Given the description of an element on the screen output the (x, y) to click on. 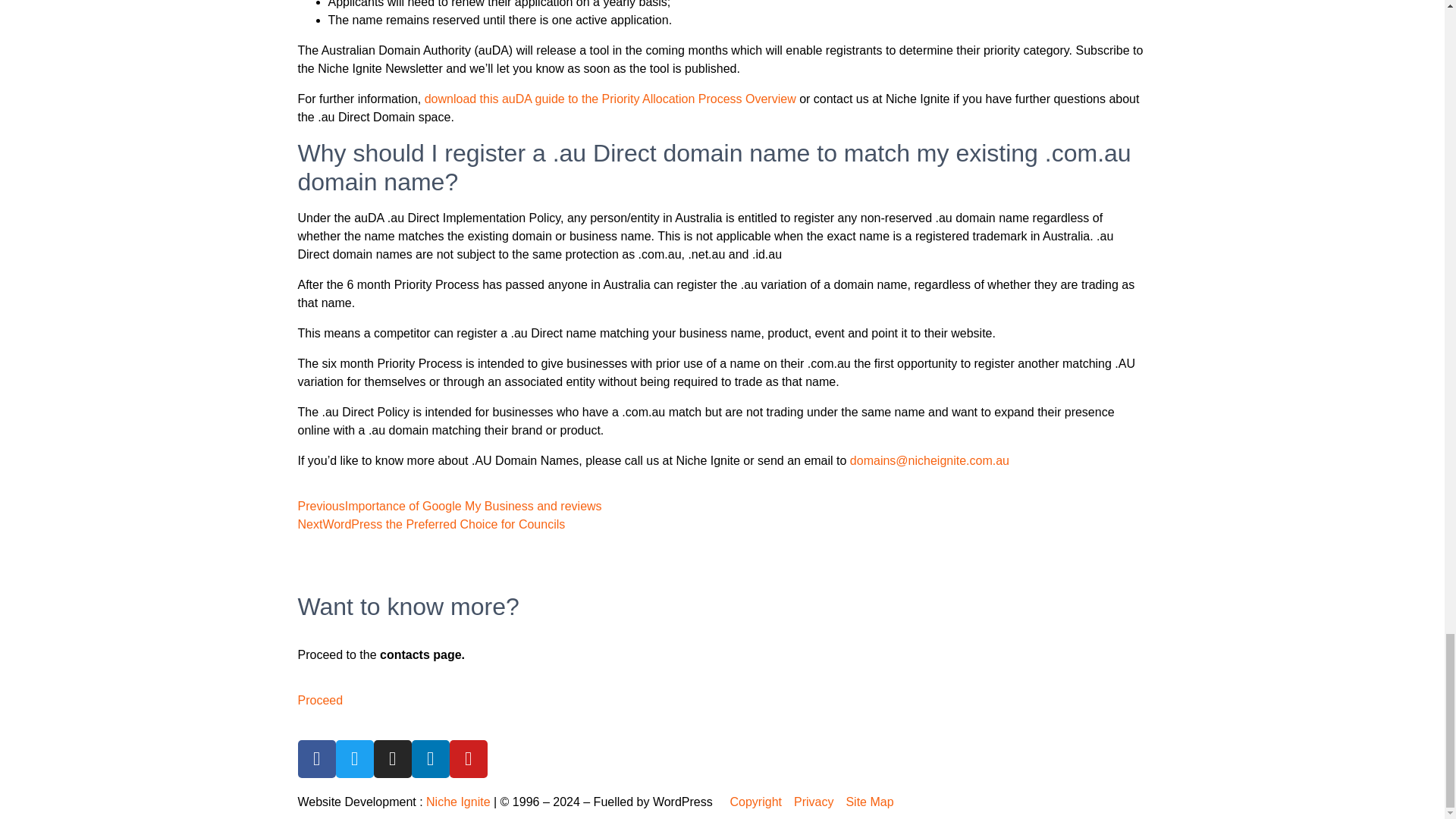
Proceed (319, 699)
PreviousImportance of Google My Business and reviews (449, 505)
NextWordPress the Preferred Choice for Councils (430, 523)
Niche Ignite - Web Design Tasmania  (458, 801)
